Given the description of an element on the screen output the (x, y) to click on. 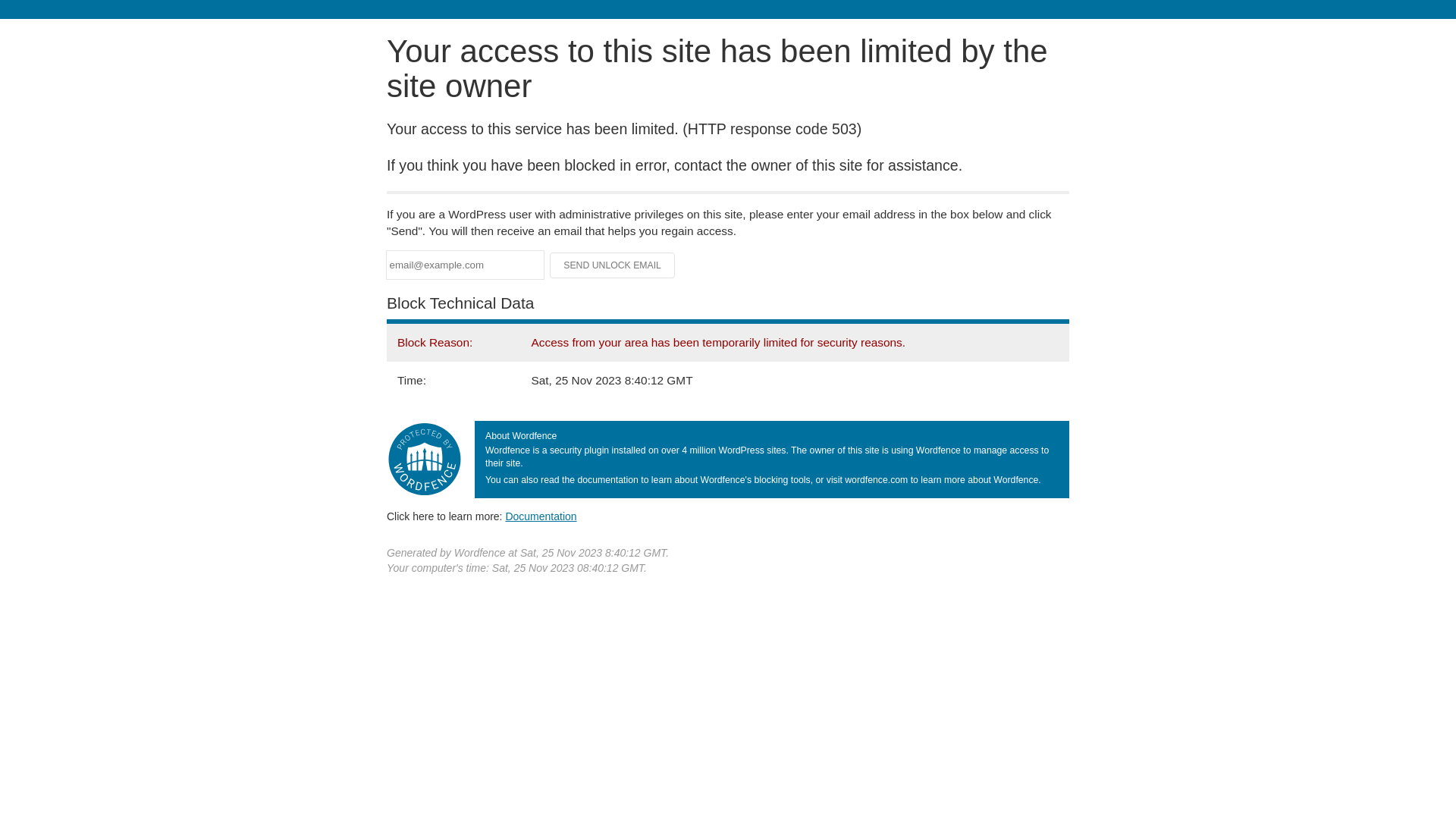
Send Unlock Email Element type: text (612, 265)
Documentation Element type: text (540, 516)
